Given the description of an element on the screen output the (x, y) to click on. 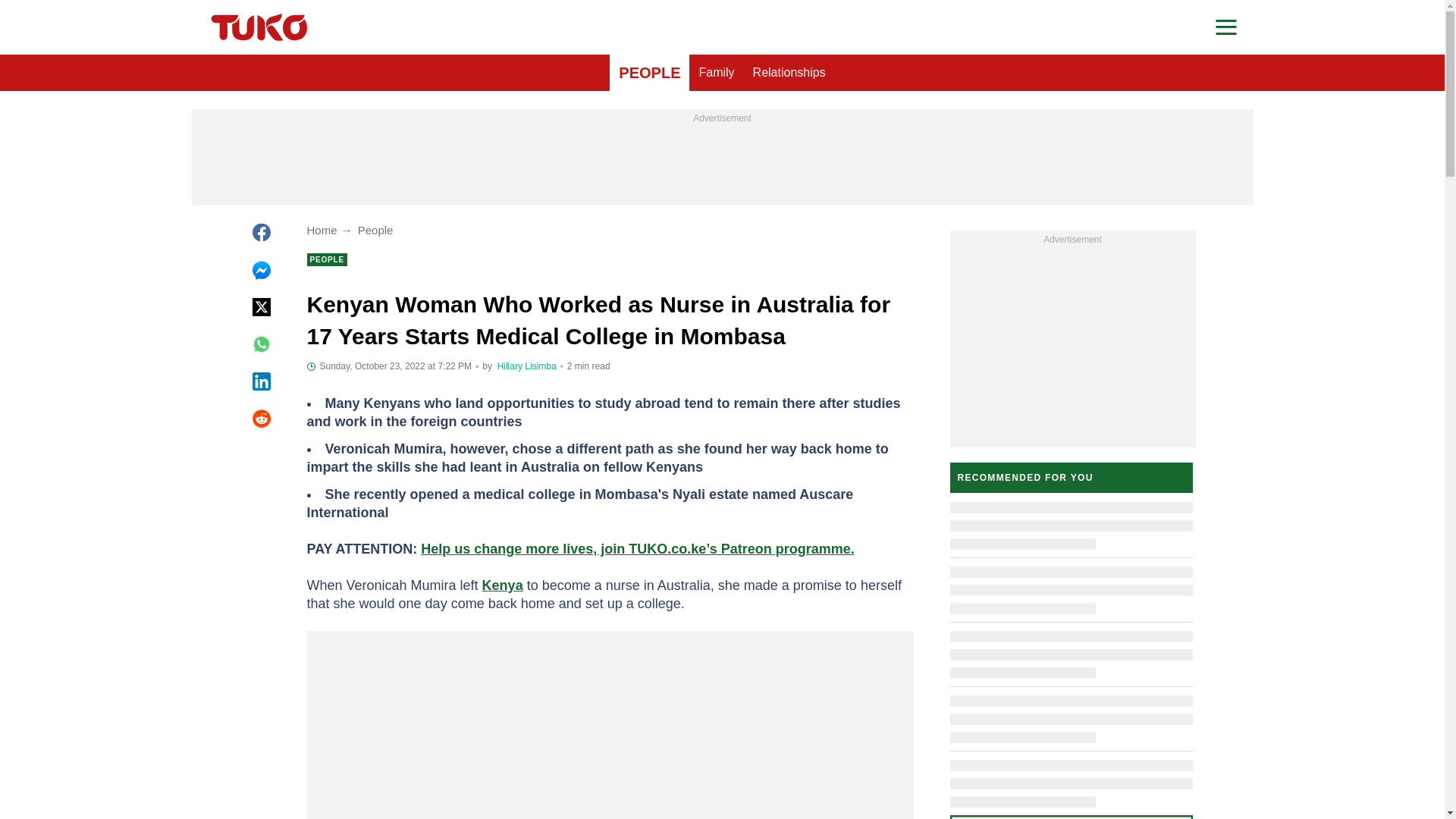
Relationships (789, 72)
Author page (526, 366)
Family (715, 72)
PEOPLE (649, 72)
